Given the description of an element on the screen output the (x, y) to click on. 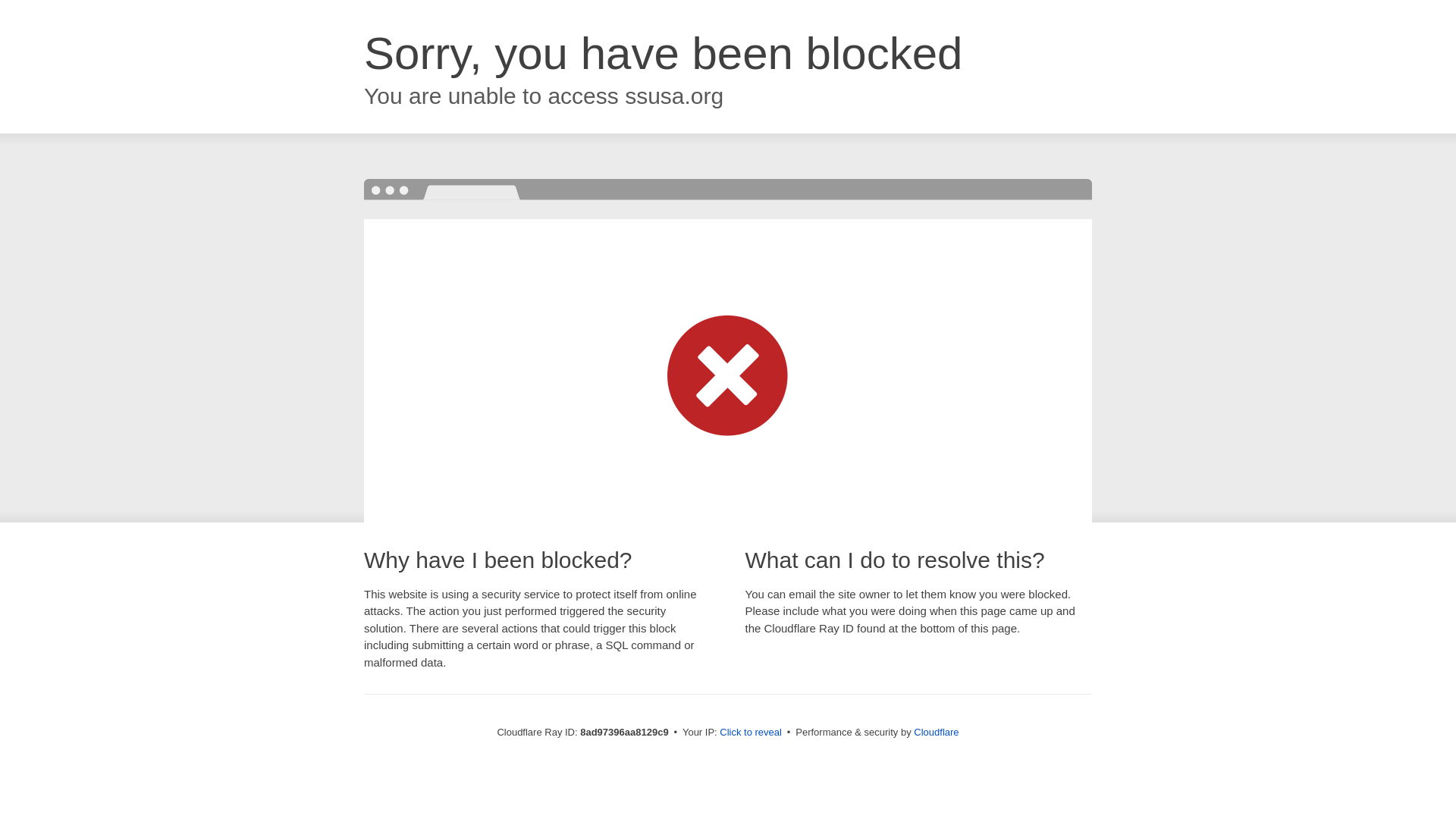
Cloudflare (936, 731)
Click to reveal (750, 732)
